Given the description of an element on the screen output the (x, y) to click on. 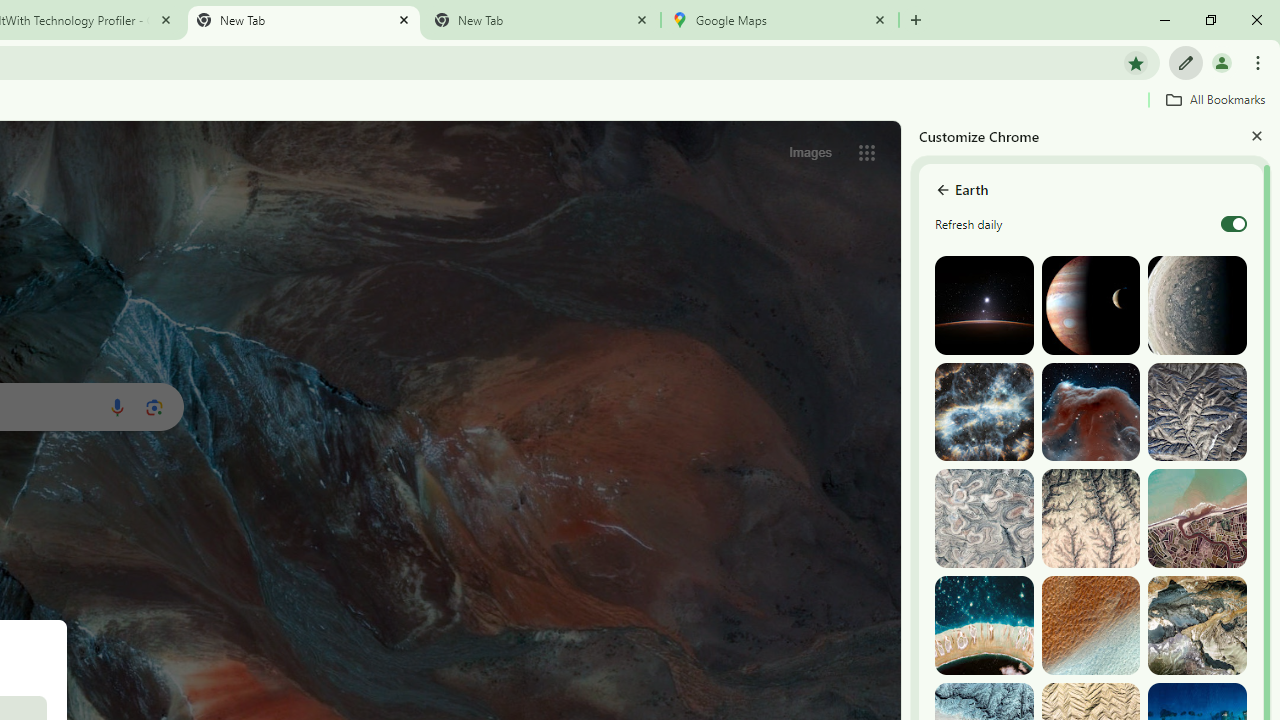
Back (942, 189)
Zermatt, Wallis, Switzerland (1197, 625)
All Bookmarks (1215, 99)
Photo by NASA Image Library (1090, 412)
New Tab (541, 20)
